Given the description of an element on the screen output the (x, y) to click on. 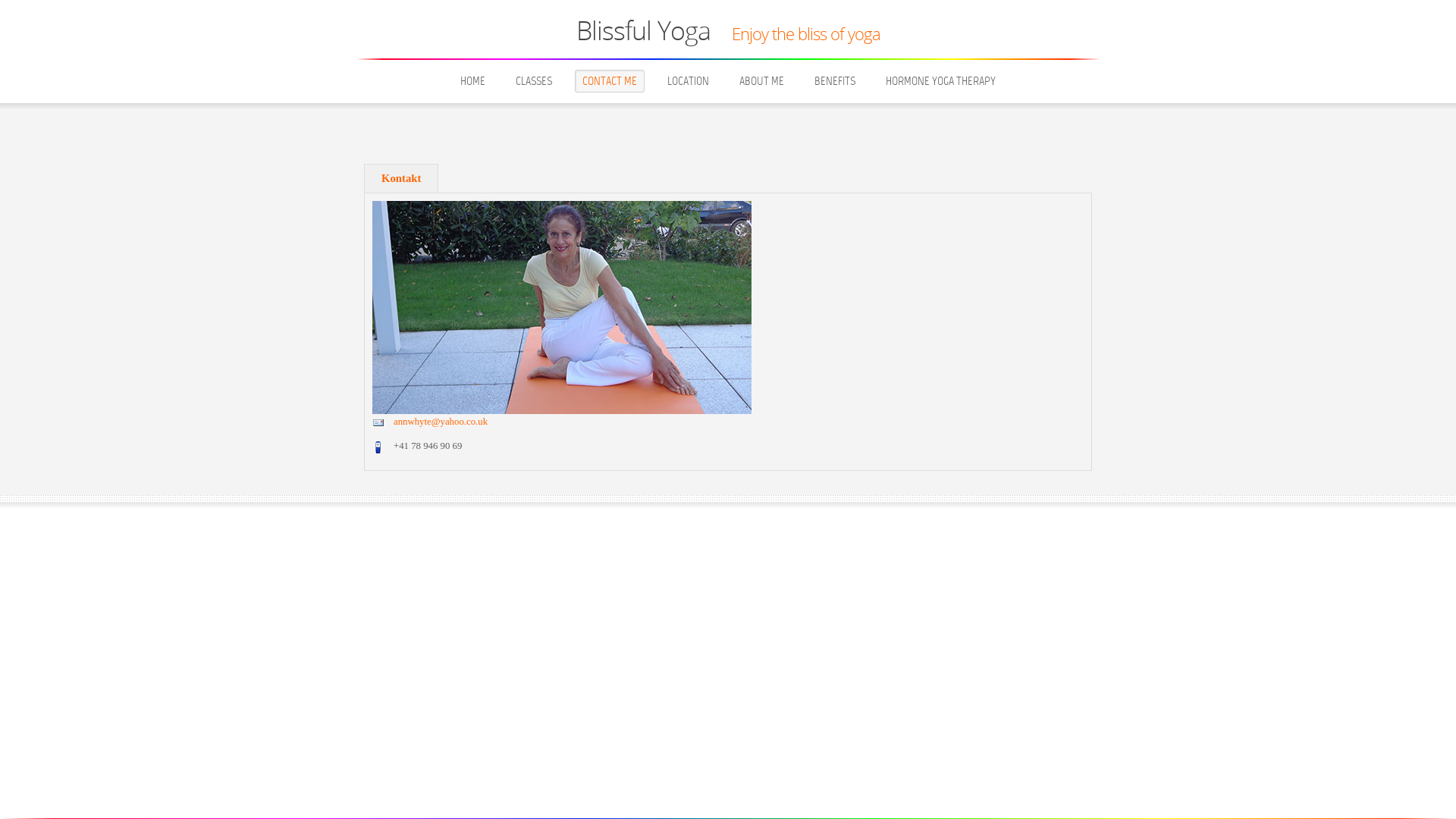
annwhyte@yahoo.co.uk Element type: text (440, 421)
ABOUT ME Element type: text (761, 80)
BENEFITS Element type: text (834, 80)
Kontakt Element type: text (400, 178)
CONTACT ME Element type: text (609, 80)
HORMONE YOGA THERAPY Element type: text (940, 80)
HOME Element type: text (472, 80)
CLASSES Element type: text (533, 80)
LOCATION Element type: text (687, 80)
Blissful Yoga Enjoy the bliss of yoga Element type: text (728, 36)
